Given the description of an element on the screen output the (x, y) to click on. 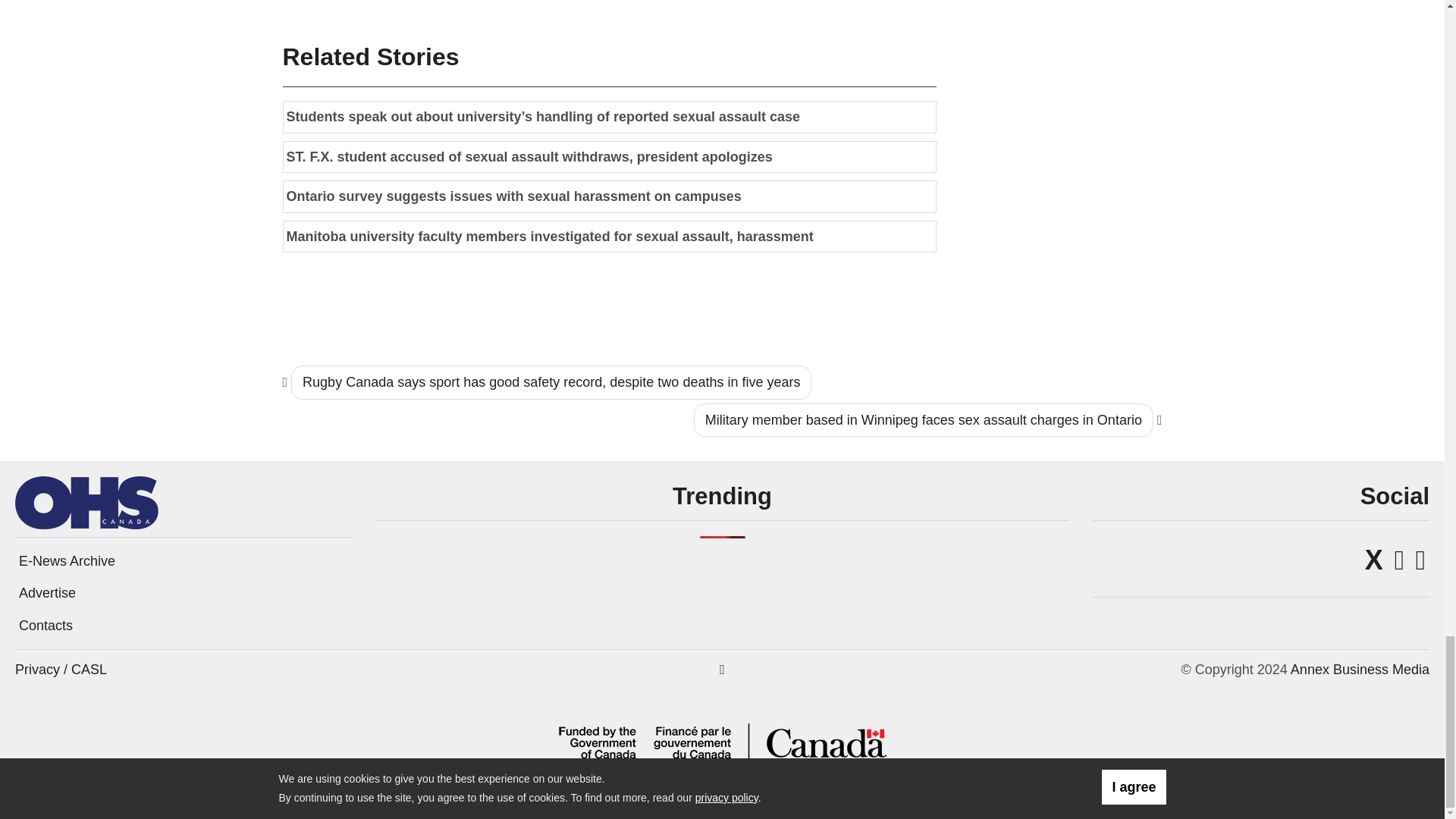
Annex Business Media (1359, 669)
OHS Canada Magazine (86, 501)
